Given the description of an element on the screen output the (x, y) to click on. 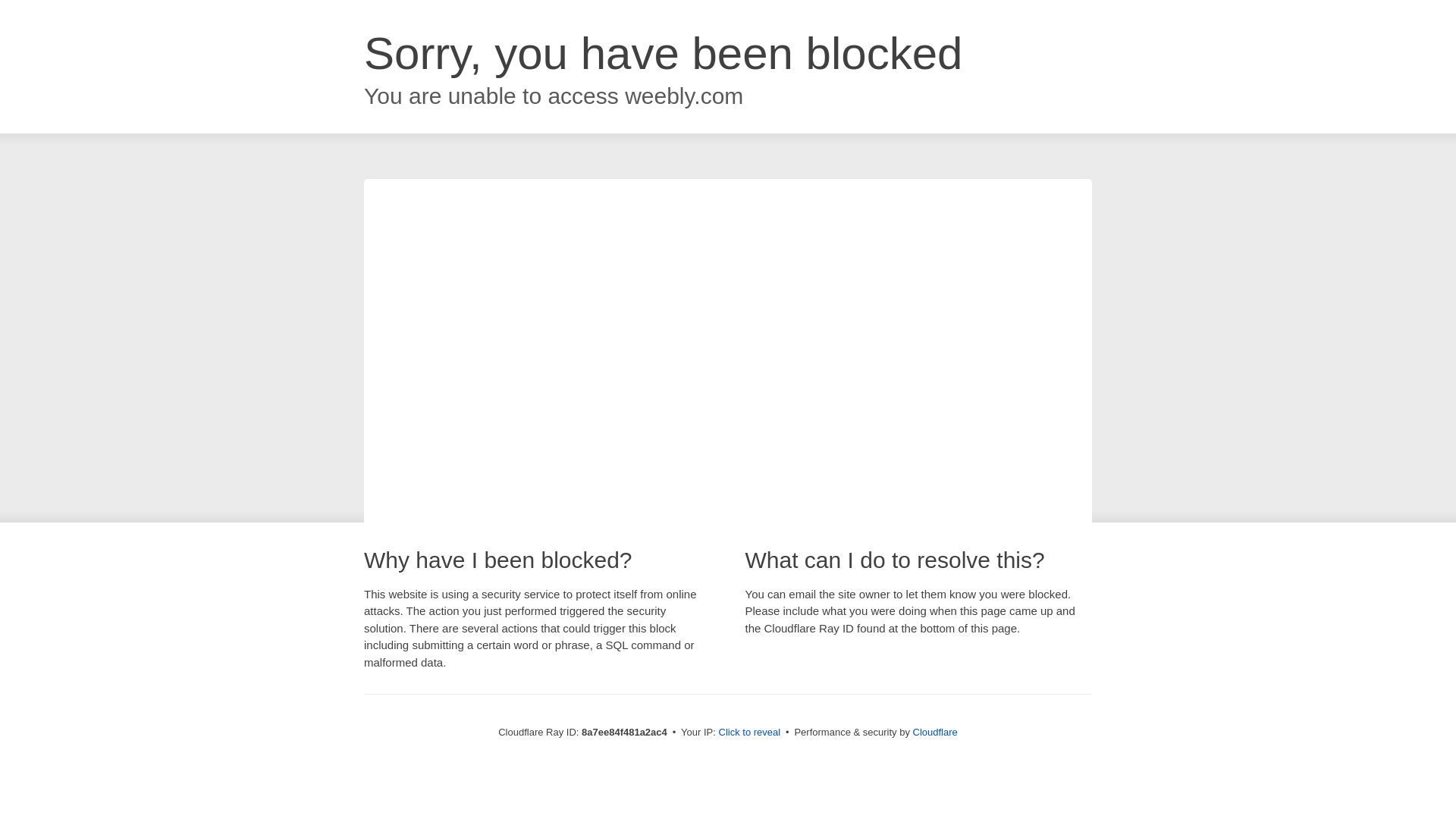
Cloudflare (935, 731)
Click to reveal (749, 732)
